Given the description of an element on the screen output the (x, y) to click on. 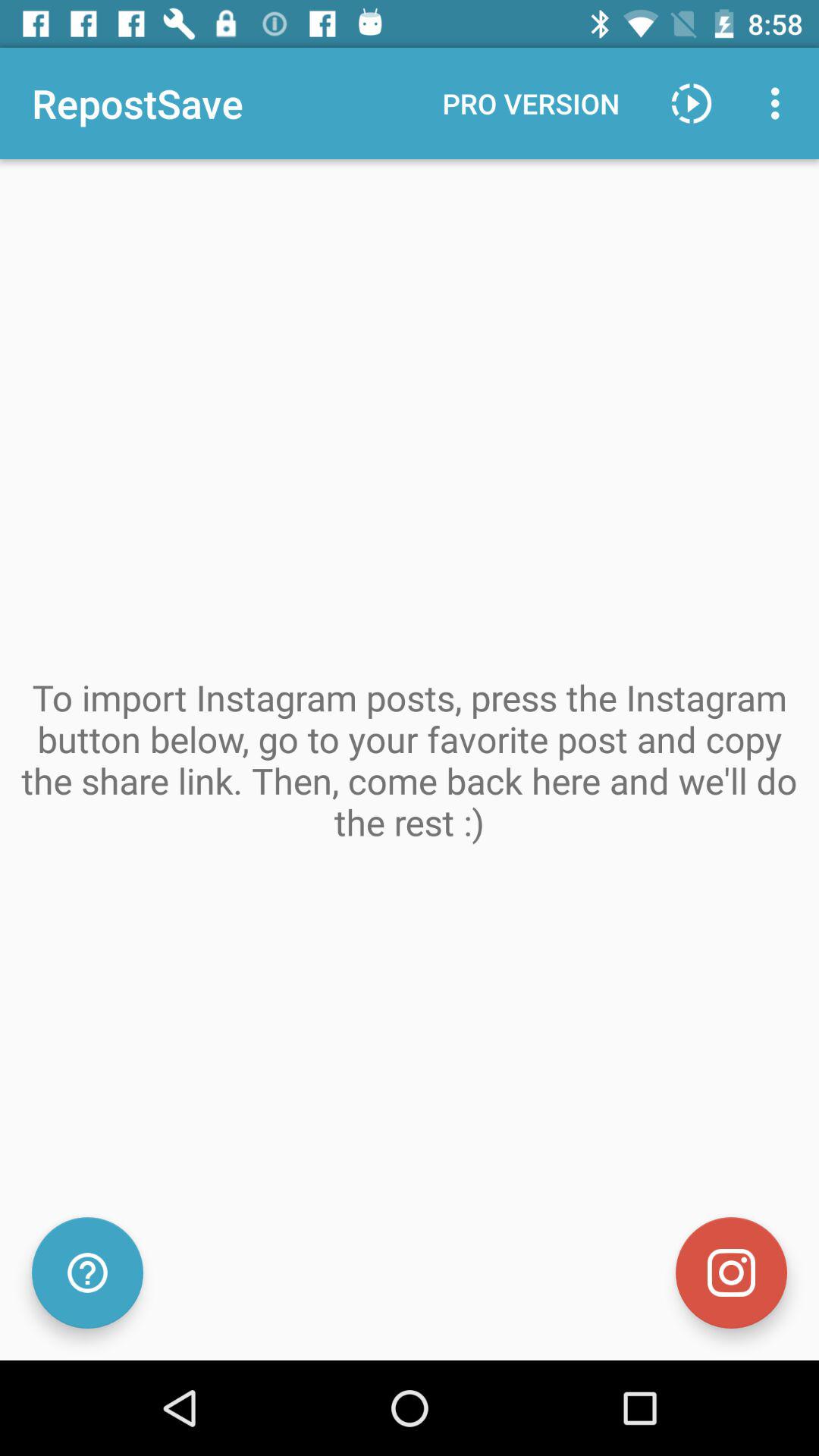
open the app next to the repostsave item (530, 103)
